Given the description of an element on the screen output the (x, y) to click on. 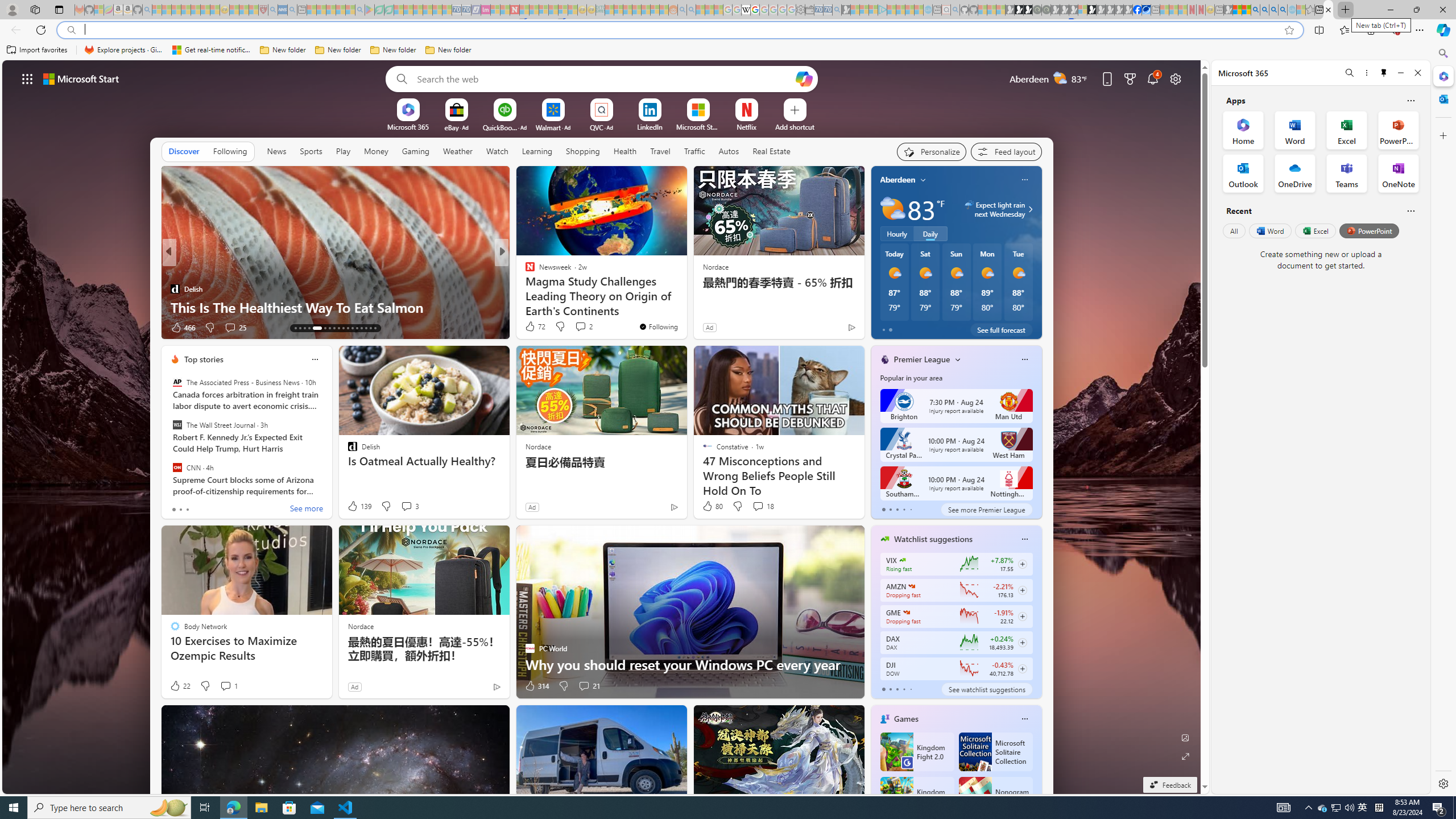
Secret History (524, 288)
Search icon (70, 29)
Import favorites (36, 49)
PowerPoint (1369, 230)
AutomationID: tab-22 (343, 328)
PC Gamer (524, 270)
Watch (497, 151)
View comments 3 Comment (406, 505)
list of asthma inhalers uk - Search - Sleeping (272, 9)
View comments 11 Comment (585, 327)
Open Copilot (803, 78)
